Given the description of an element on the screen output the (x, y) to click on. 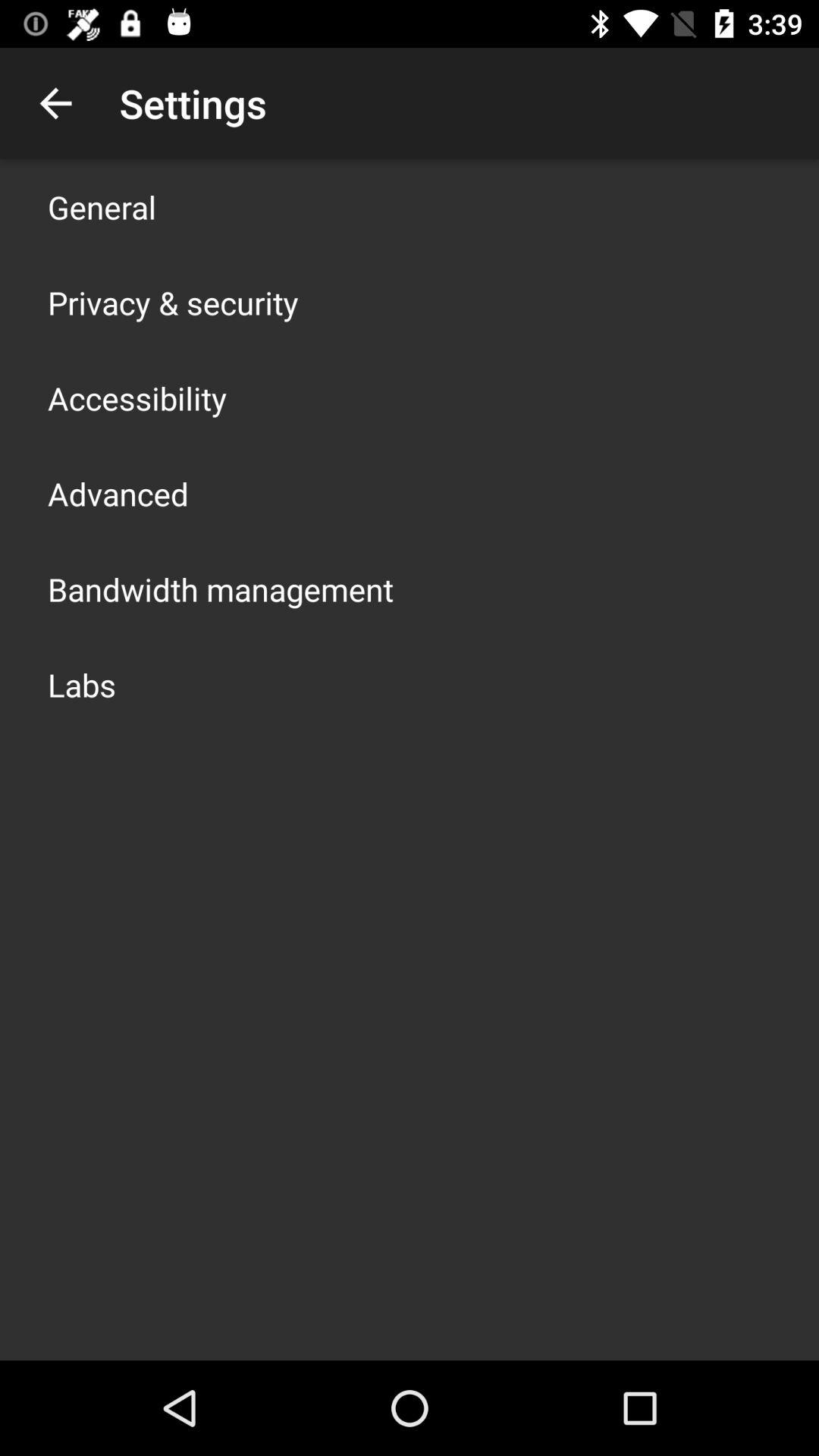
click the icon above the advanced icon (136, 397)
